Given the description of an element on the screen output the (x, y) to click on. 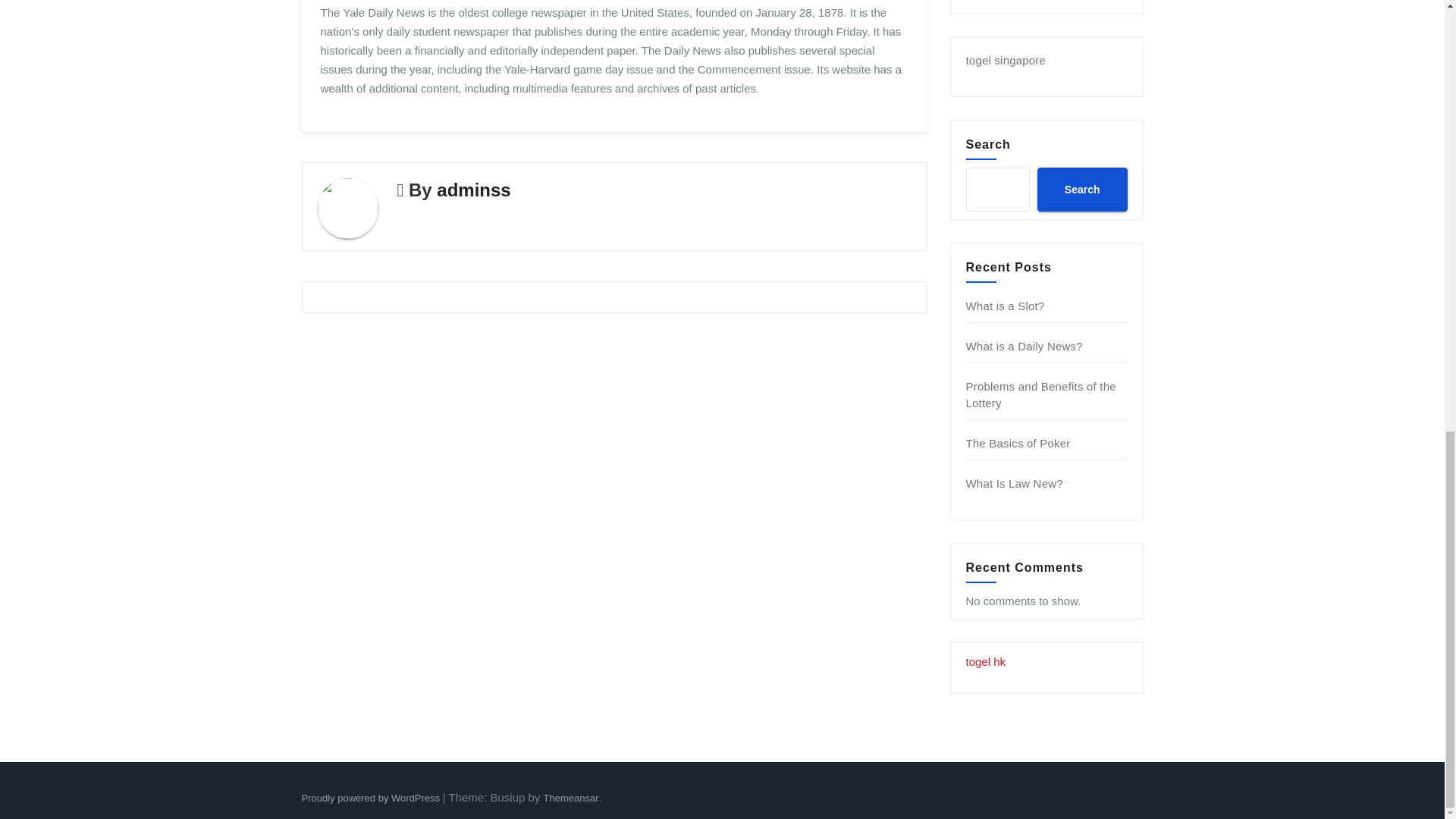
togel hk (986, 661)
The Basics of Poker (1018, 442)
togel singapore (1006, 60)
What Is Law New? (1014, 482)
Proudly powered by WordPress (371, 797)
What is a Daily News? (1024, 345)
Problems and Benefits of the Lottery (1041, 394)
adminss (473, 189)
Search (1081, 189)
What is a Slot? (1005, 305)
